Given the description of an element on the screen output the (x, y) to click on. 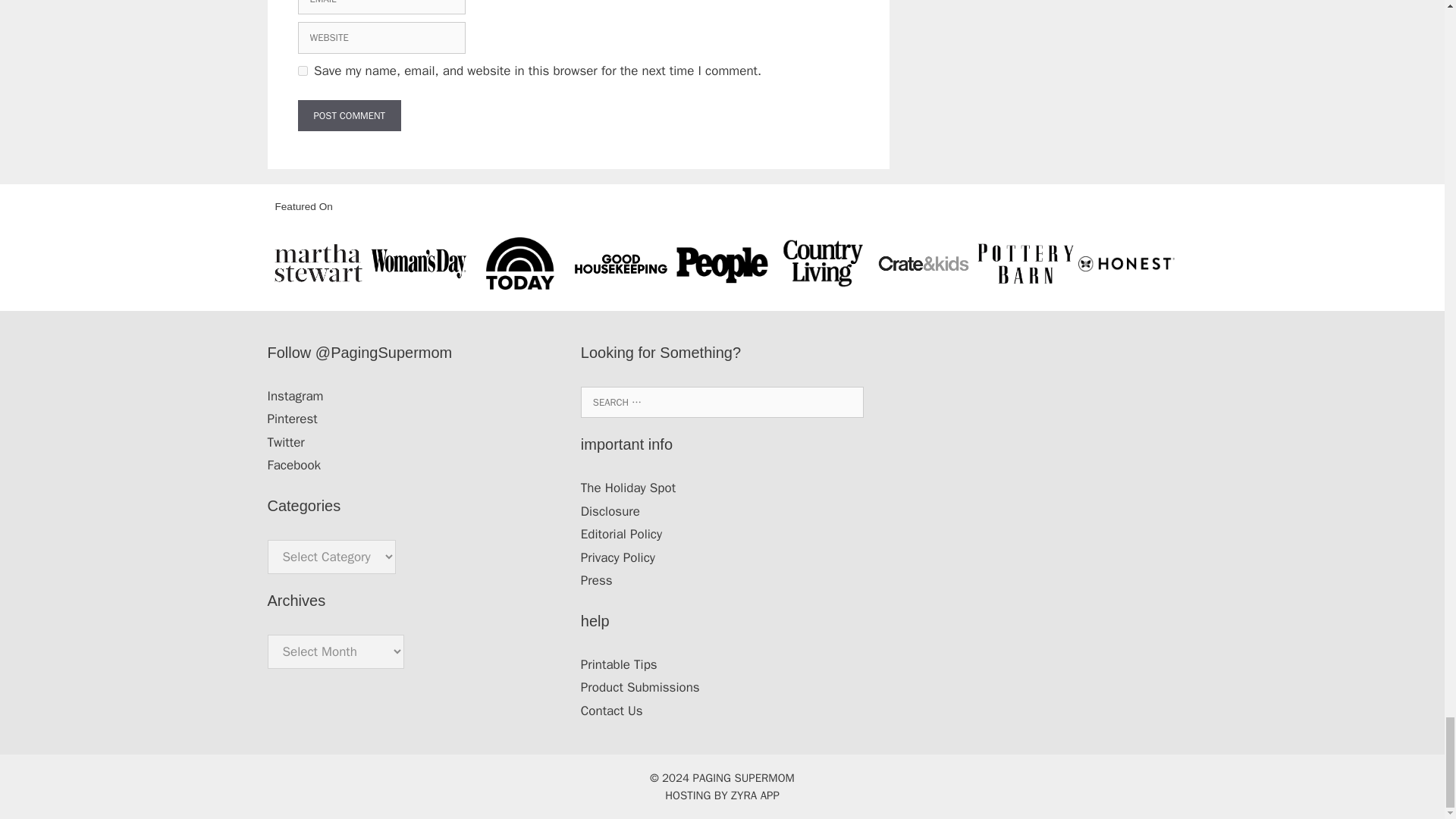
Search for: (721, 402)
yes (302, 71)
Post Comment (349, 115)
